Given the description of an element on the screen output the (x, y) to click on. 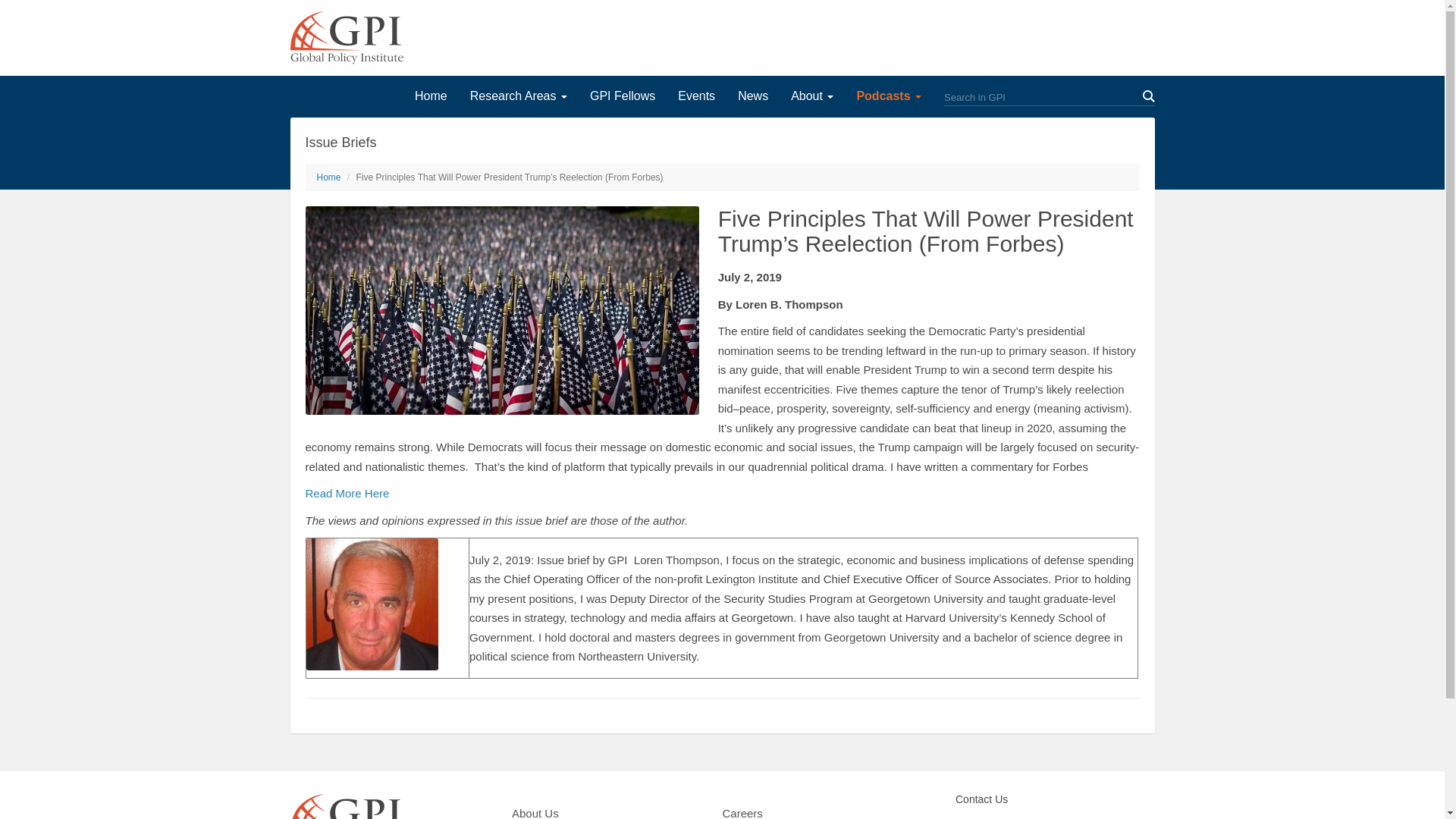
Research Areas (519, 98)
GPI Fellows (622, 98)
Podcasts (888, 98)
Home (328, 176)
Read More Here (346, 492)
About Us (537, 812)
Home (430, 98)
Events (695, 98)
GPI Global Policy Institute (346, 37)
About (812, 98)
